Given the description of an element on the screen output the (x, y) to click on. 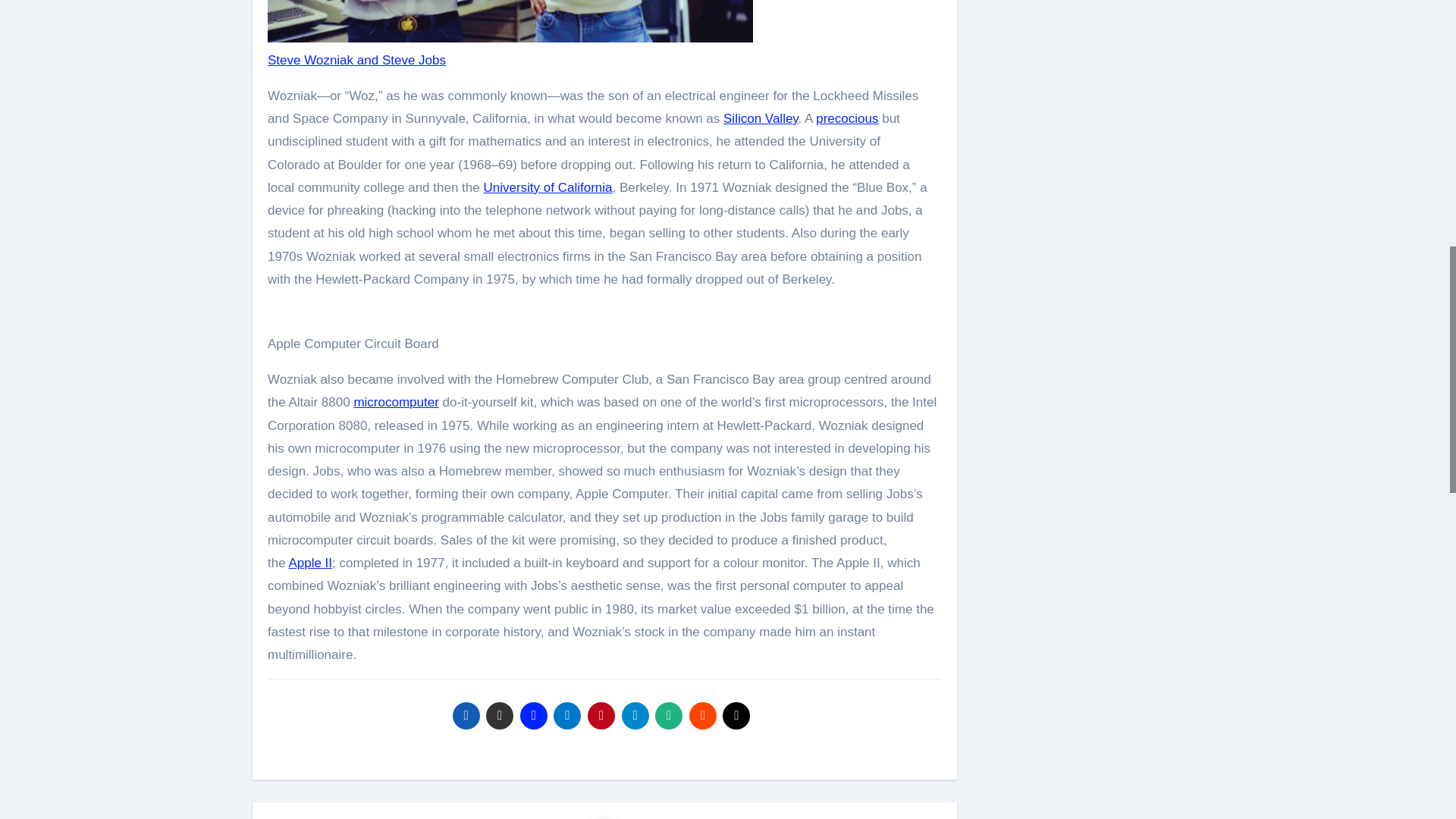
Steve Wozniak and Steve Jobs (356, 60)
precocious (846, 118)
Silicon Valley (760, 118)
Apple II (309, 563)
University of California (547, 187)
microcomputer (395, 401)
